Given the description of an element on the screen output the (x, y) to click on. 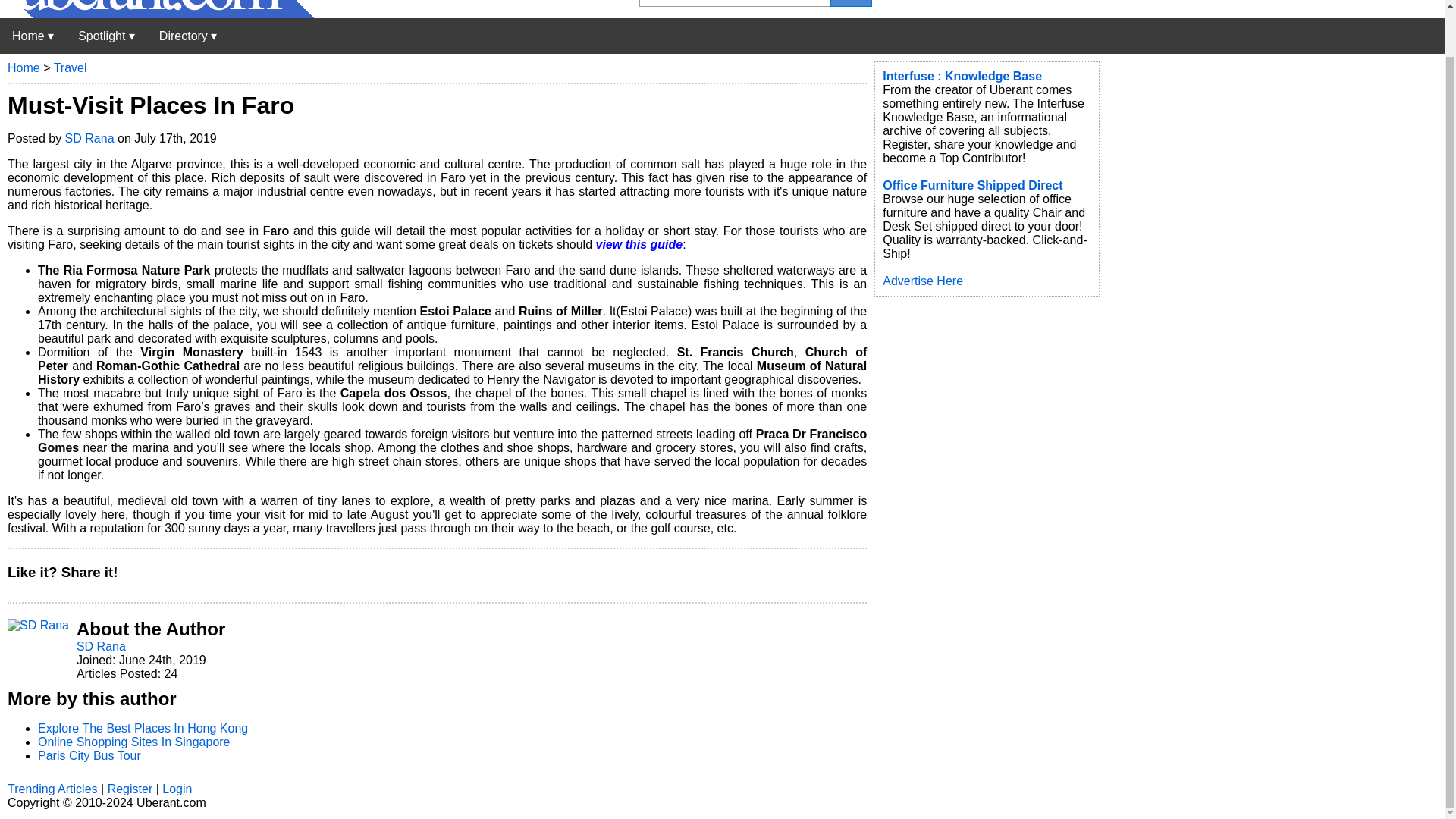
Search (850, 3)
Uberant (32, 35)
Uberant (157, 13)
Search (850, 3)
